Given the description of an element on the screen output the (x, y) to click on. 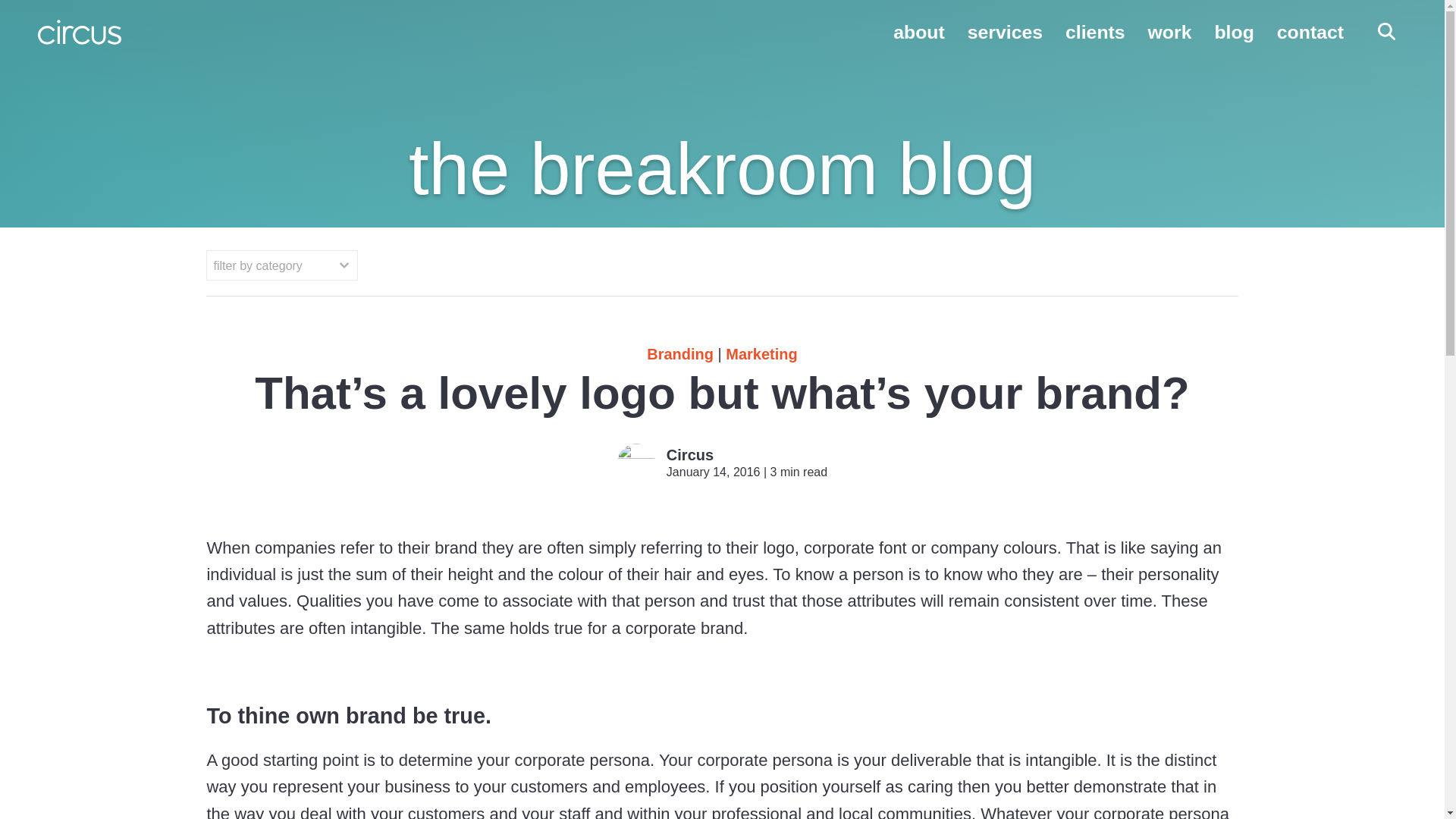
contact (1309, 32)
Branding (679, 353)
work (1170, 32)
services (1005, 32)
Circus (689, 454)
about (918, 32)
Marketing (760, 353)
Search Website (1386, 32)
Search Website (1386, 32)
Profile image for Circus (636, 462)
blog (1233, 32)
clients (1095, 32)
